Given the description of an element on the screen output the (x, y) to click on. 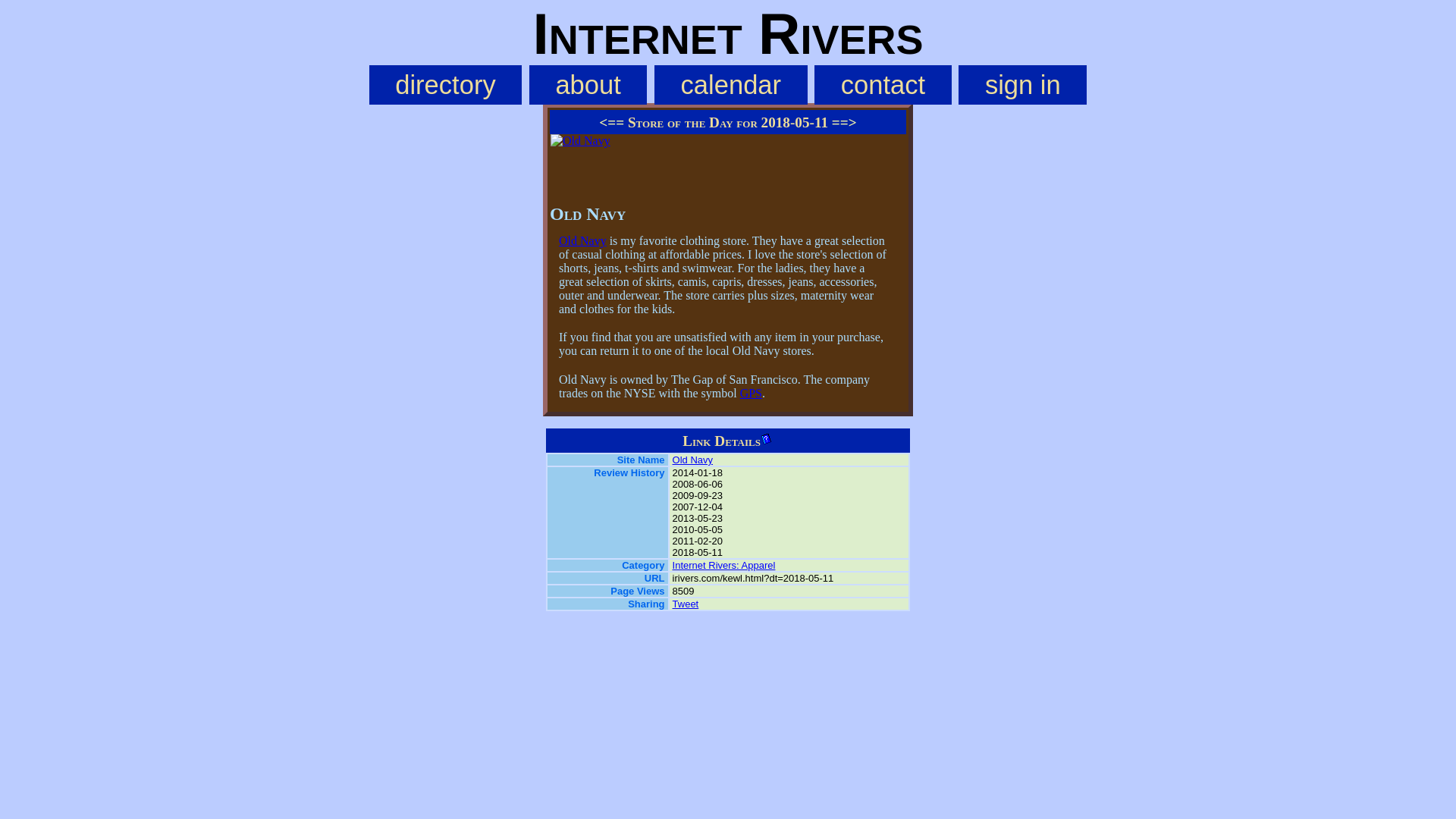
calendar (730, 84)
Old Navy (583, 240)
directory (445, 84)
Internet Rivers: Apparel (724, 564)
sign in (1022, 84)
previous (611, 122)
contact (881, 84)
Tweet (685, 603)
about (588, 84)
Old Navy (692, 460)
GPS (750, 392)
next (844, 122)
